Given the description of an element on the screen output the (x, y) to click on. 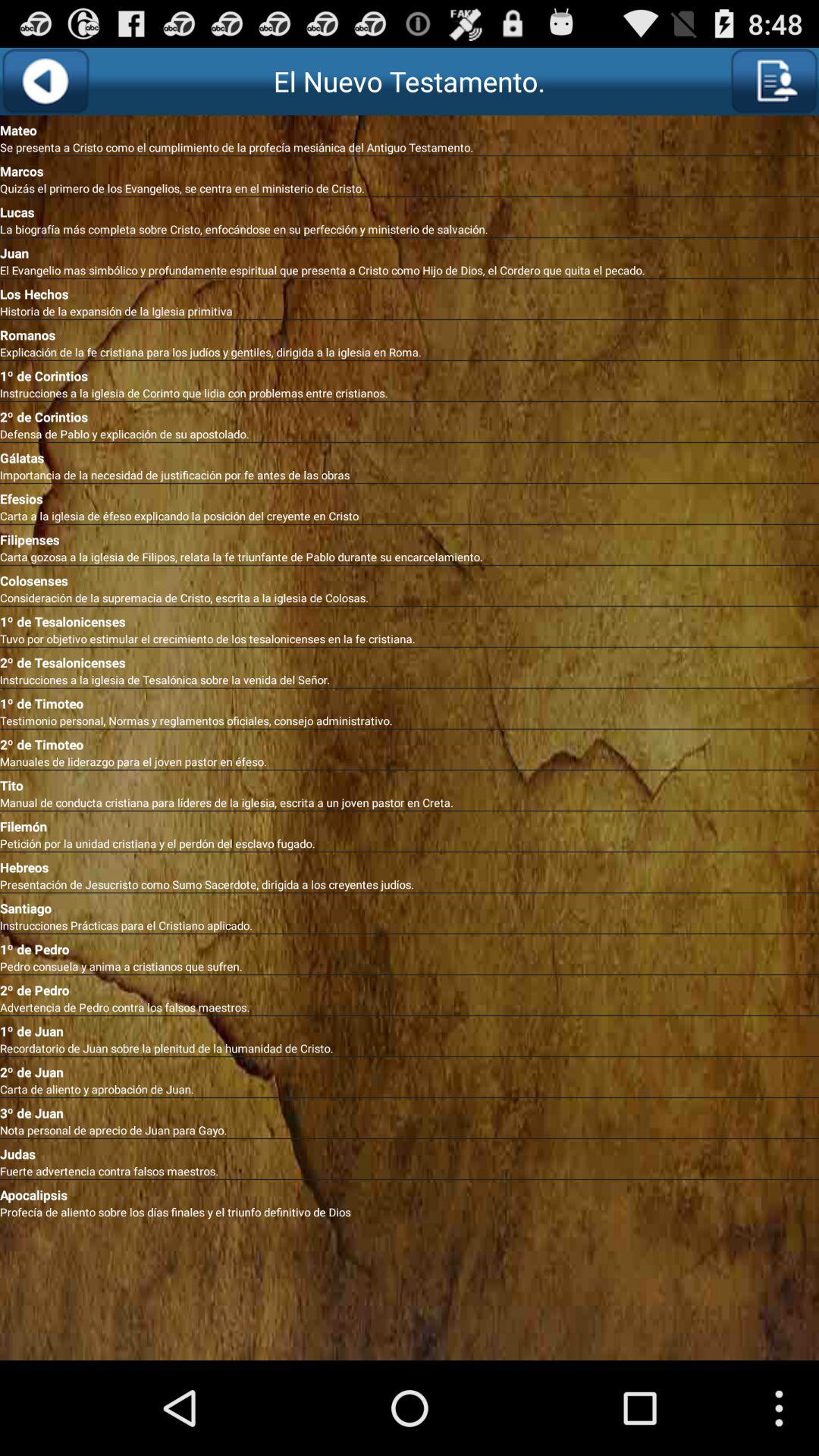
press the app to the left of el nuevo testamento. icon (45, 81)
